Given the description of an element on the screen output the (x, y) to click on. 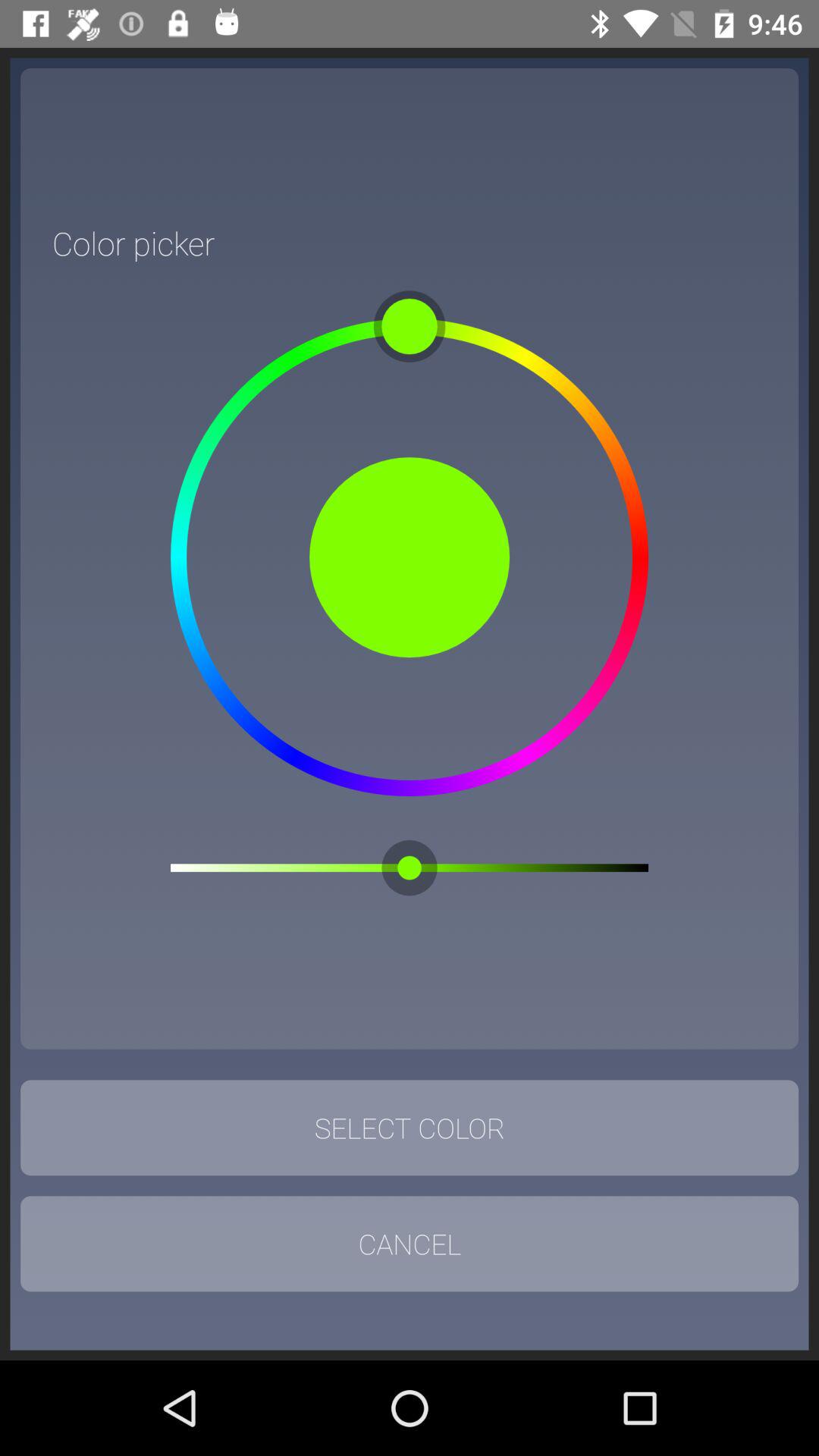
click icon above cancel (409, 1127)
